Given the description of an element on the screen output the (x, y) to click on. 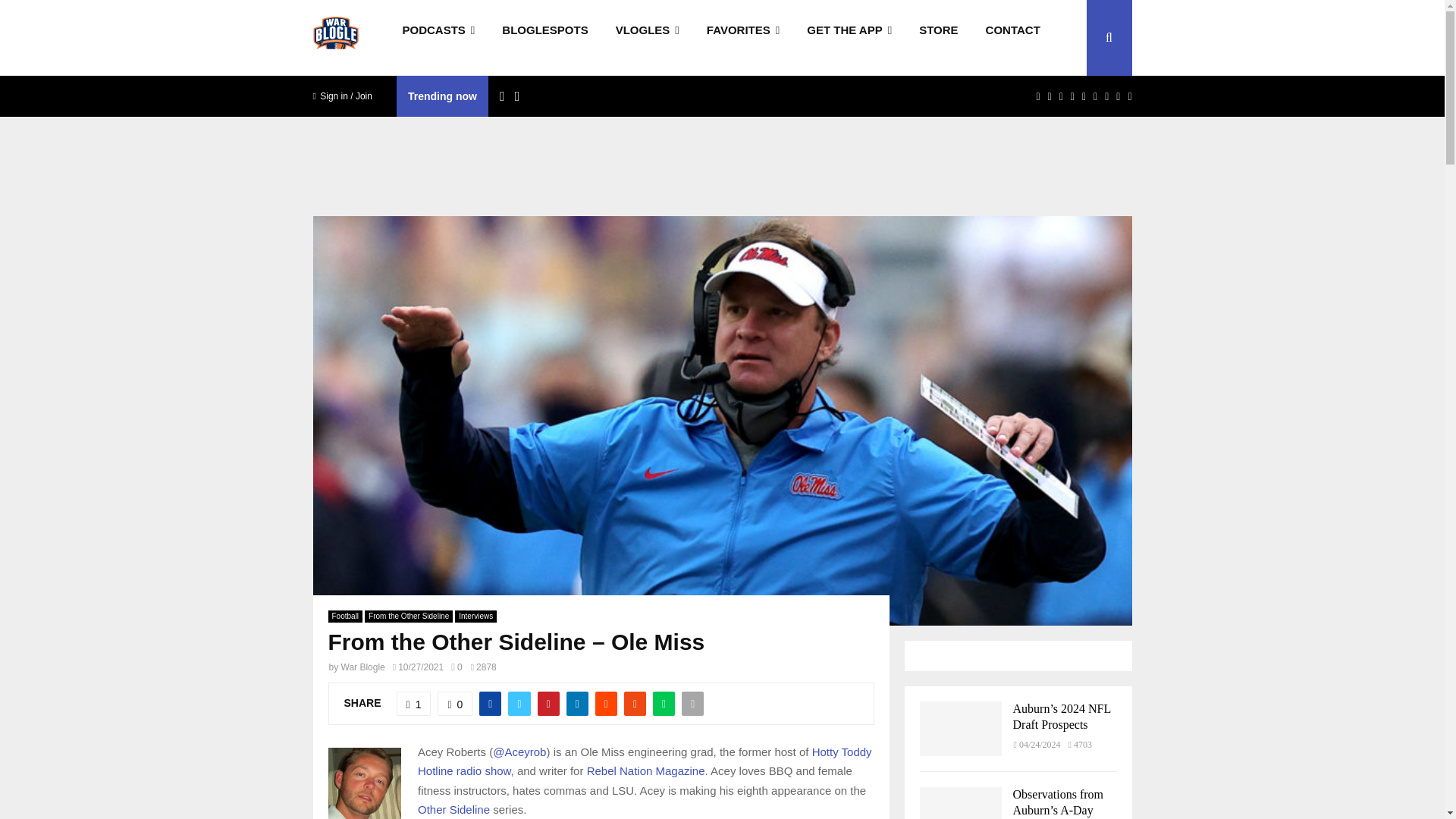
FAVORITES (743, 38)
PODCASTS (437, 38)
BLOGLESPOTS (544, 38)
VLOGLES (647, 38)
